Given the description of an element on the screen output the (x, y) to click on. 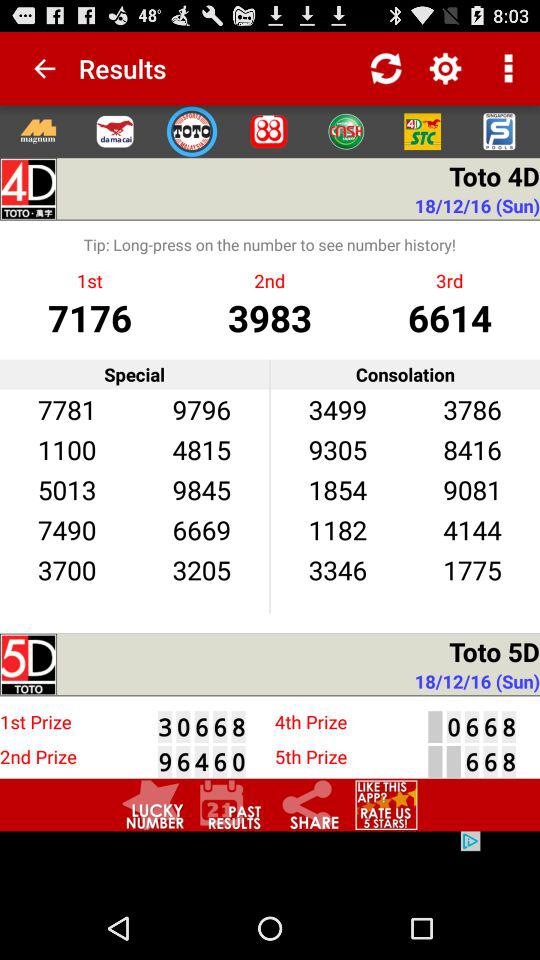
advertisement (270, 864)
